Given the description of an element on the screen output the (x, y) to click on. 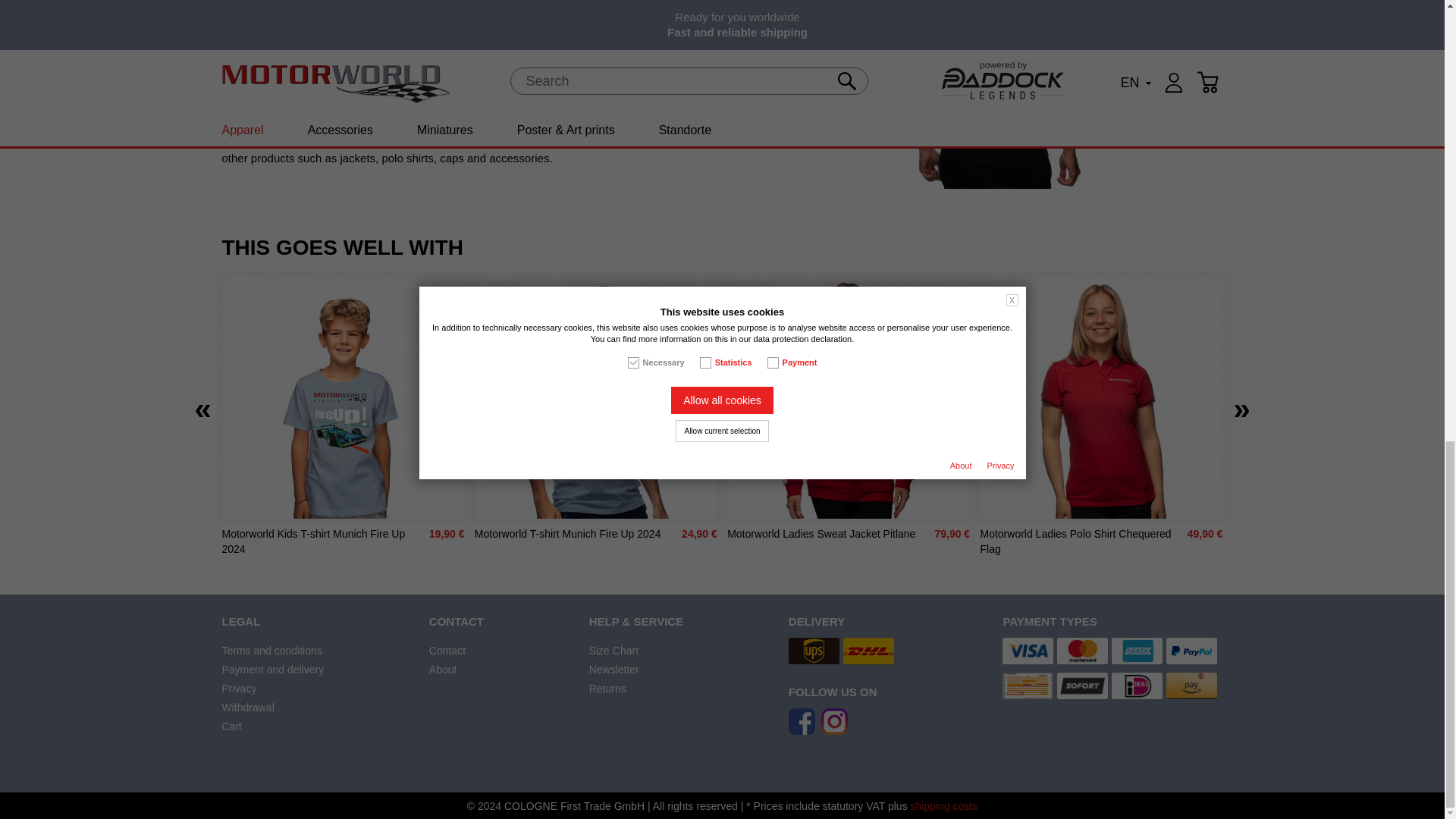
Amazon Pay (1191, 685)
left (202, 408)
right (1241, 408)
